Given the description of an element on the screen output the (x, y) to click on. 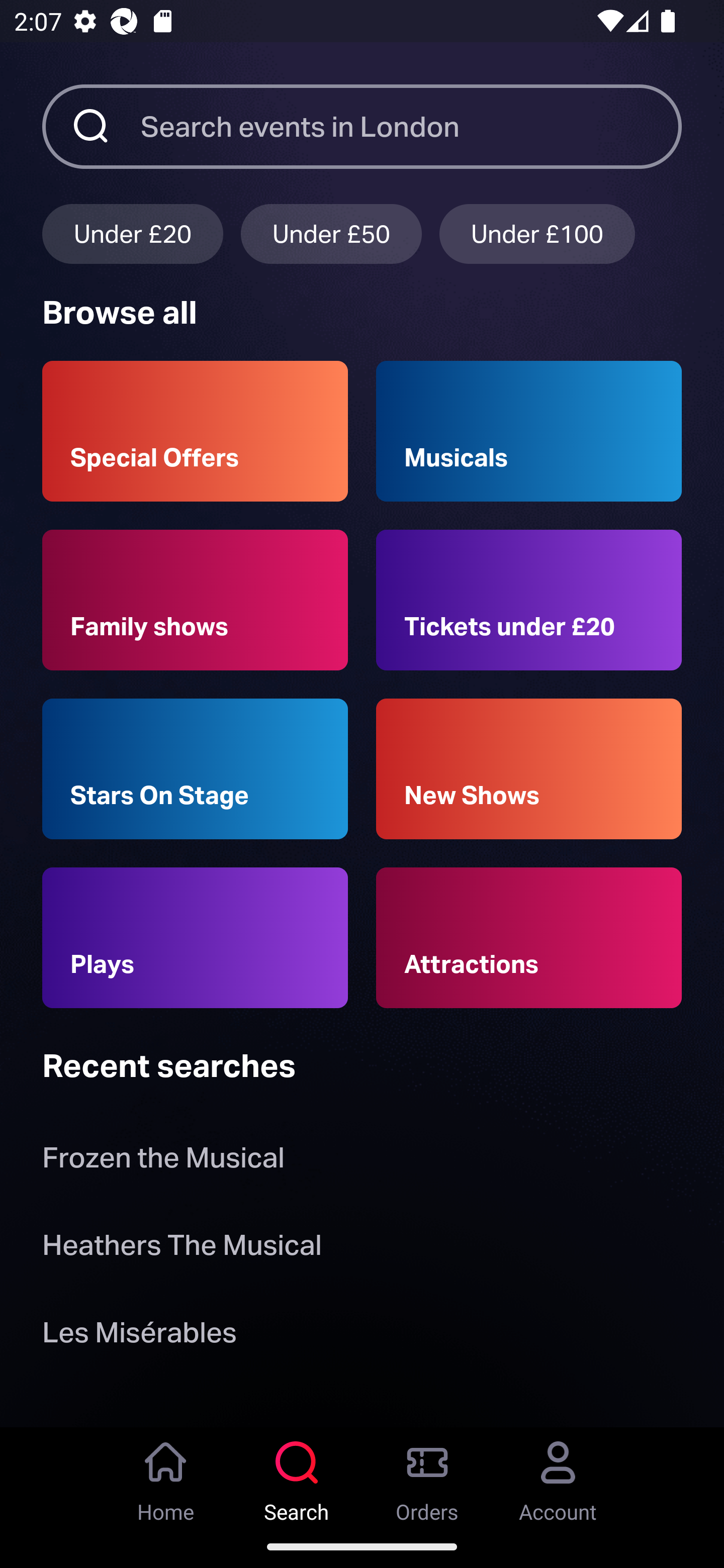
Search events in London (411, 126)
Under £20 (131, 233)
Under £50 (331, 233)
Under £100 (536, 233)
Special Offers (194, 430)
Musicals (528, 430)
Family shows (194, 600)
Tickets under £20  (528, 600)
Stars On Stage (194, 768)
New Shows (528, 768)
Plays (194, 937)
Attractions  (528, 937)
Frozen the Musical (162, 1161)
Heathers The Musical (181, 1248)
Les Misérables (138, 1335)
Home (165, 1475)
Orders (427, 1475)
Account (558, 1475)
